Given the description of an element on the screen output the (x, y) to click on. 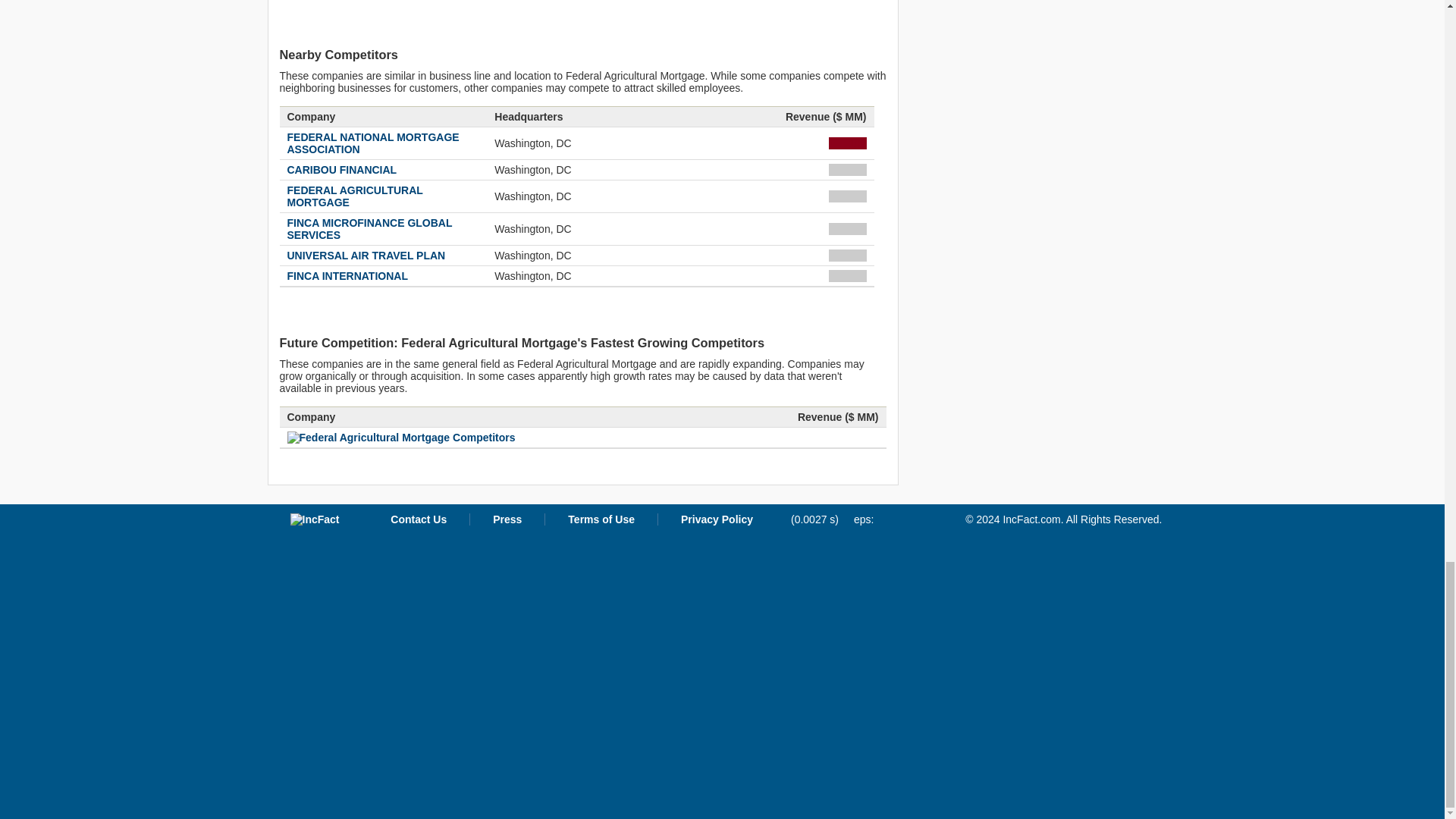
CARIBOU FINANCIAL (341, 169)
FEDERAL AGRICULTURAL MORTGAGE (354, 196)
FEDERAL NATIONAL MORTGAGE ASSOCIATION (372, 143)
IncFact.com (314, 519)
